Given the description of an element on the screen output the (x, y) to click on. 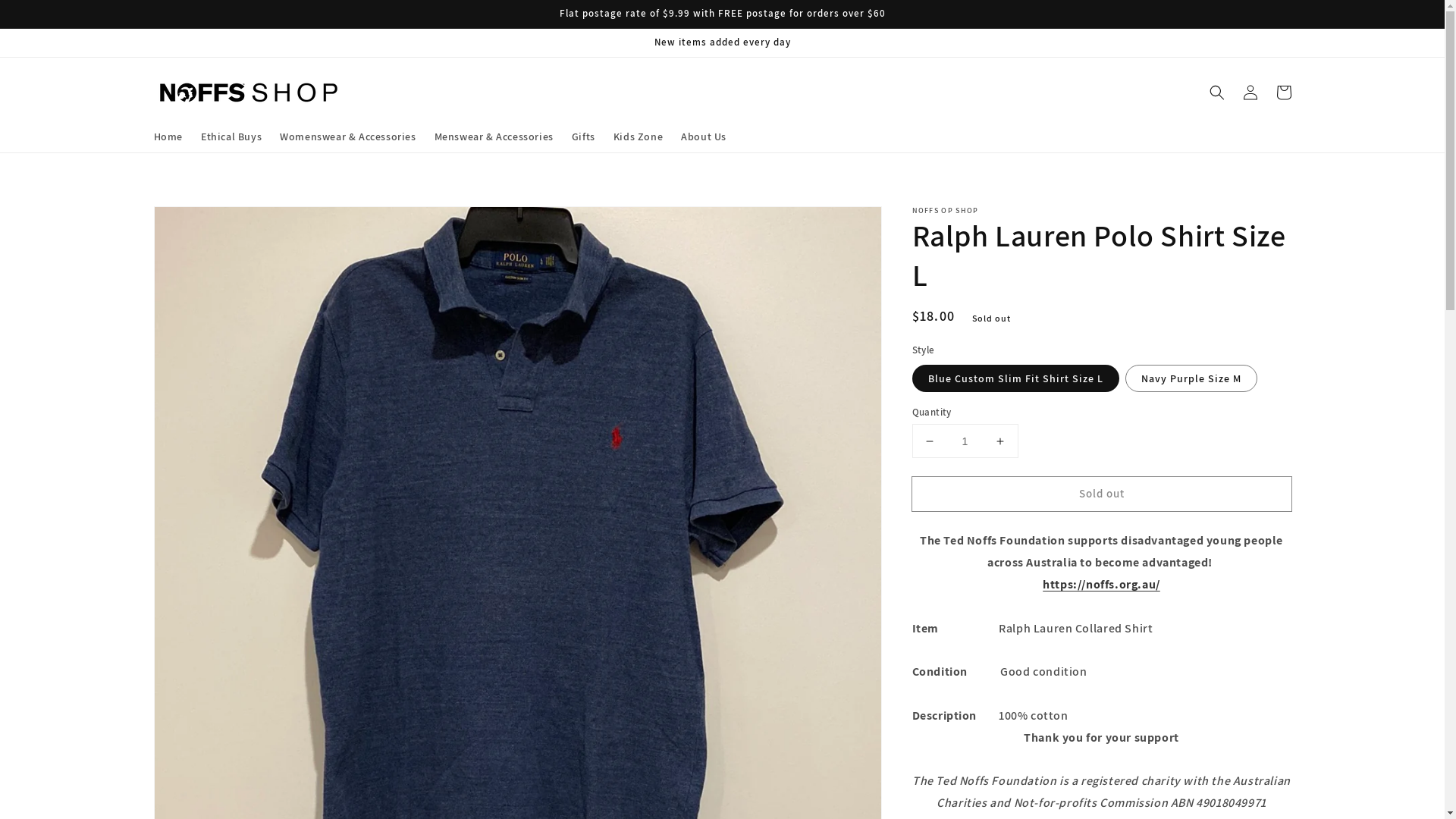
Cart Element type: text (1282, 92)
Ethical Buys Element type: text (230, 136)
Menswear & Accessories Element type: text (493, 136)
Decrease quantity for Ralph Lauren Polo Shirt Size L Element type: text (930, 440)
Skip to product information Element type: text (198, 222)
Sold out Element type: text (1100, 493)
About Us Element type: text (703, 136)
Increase quantity for Ralph Lauren Polo Shirt Size L Element type: text (999, 440)
Womenswear & Accessories Element type: text (347, 136)
Home Element type: text (167, 136)
https://noffs.org.au/ Element type: text (1101, 584)
Log in Element type: text (1249, 92)
Gifts Element type: text (583, 136)
Kids Zone Element type: text (637, 136)
